Given the description of an element on the screen output the (x, y) to click on. 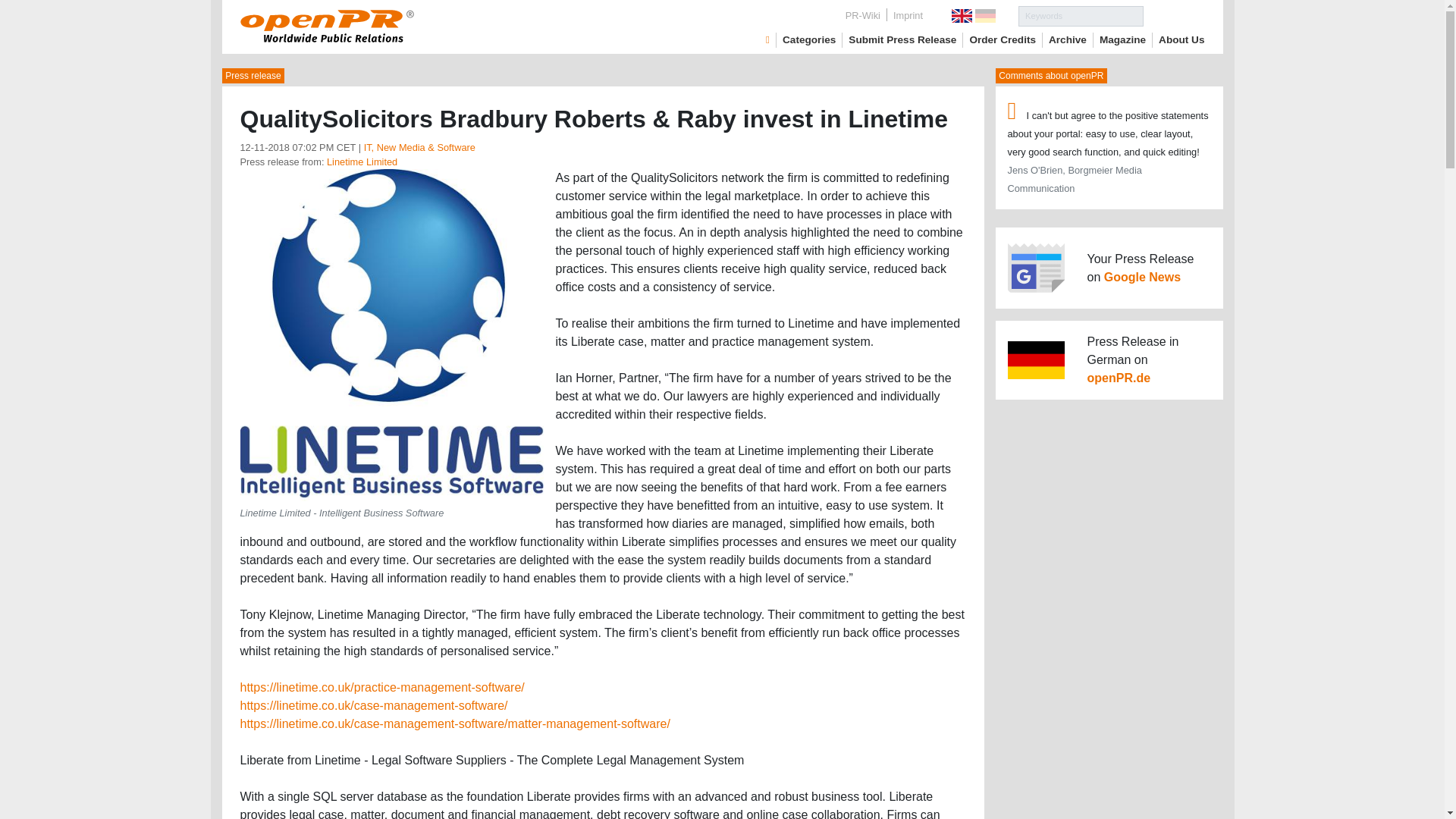
Search   (1173, 15)
Submit Press Release (902, 39)
Order Credits (1002, 39)
Linetime Limited - Intelligent Business Software (391, 333)
About Us (1181, 39)
Linetime Limited (361, 161)
archive und pressrelease of Linetime Limited (361, 161)
Archive (1067, 39)
Categories (809, 39)
Imprint (907, 15)
PR-Wiki (863, 15)
Magazine (1122, 39)
